Given the description of an element on the screen output the (x, y) to click on. 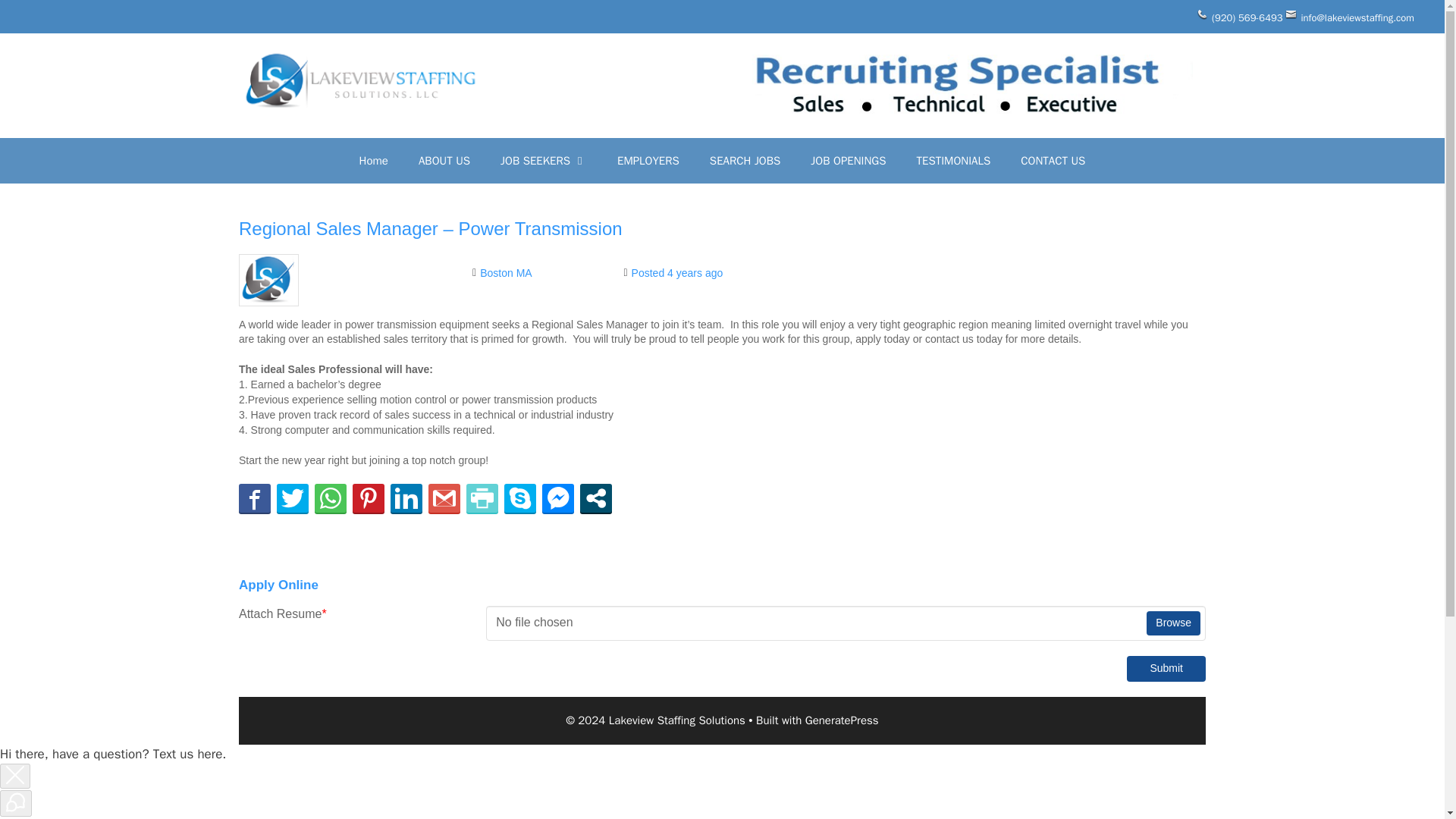
Share on Facebook (254, 498)
Home (373, 160)
Lakeview Staffing Solutions (359, 78)
JOB SEEKERS (543, 160)
CONTACT US (1053, 160)
Submit (1165, 668)
Send on Facebook Messenger (557, 498)
GeneratePress (842, 720)
JOB OPENINGS (847, 160)
Share on Skype (519, 498)
Open modal social networks (595, 498)
Share on Linkedin (406, 498)
EMPLOYERS (648, 160)
Send by Gmail (444, 498)
Lakeview Staffing Solutions (359, 80)
